Given the description of an element on the screen output the (x, y) to click on. 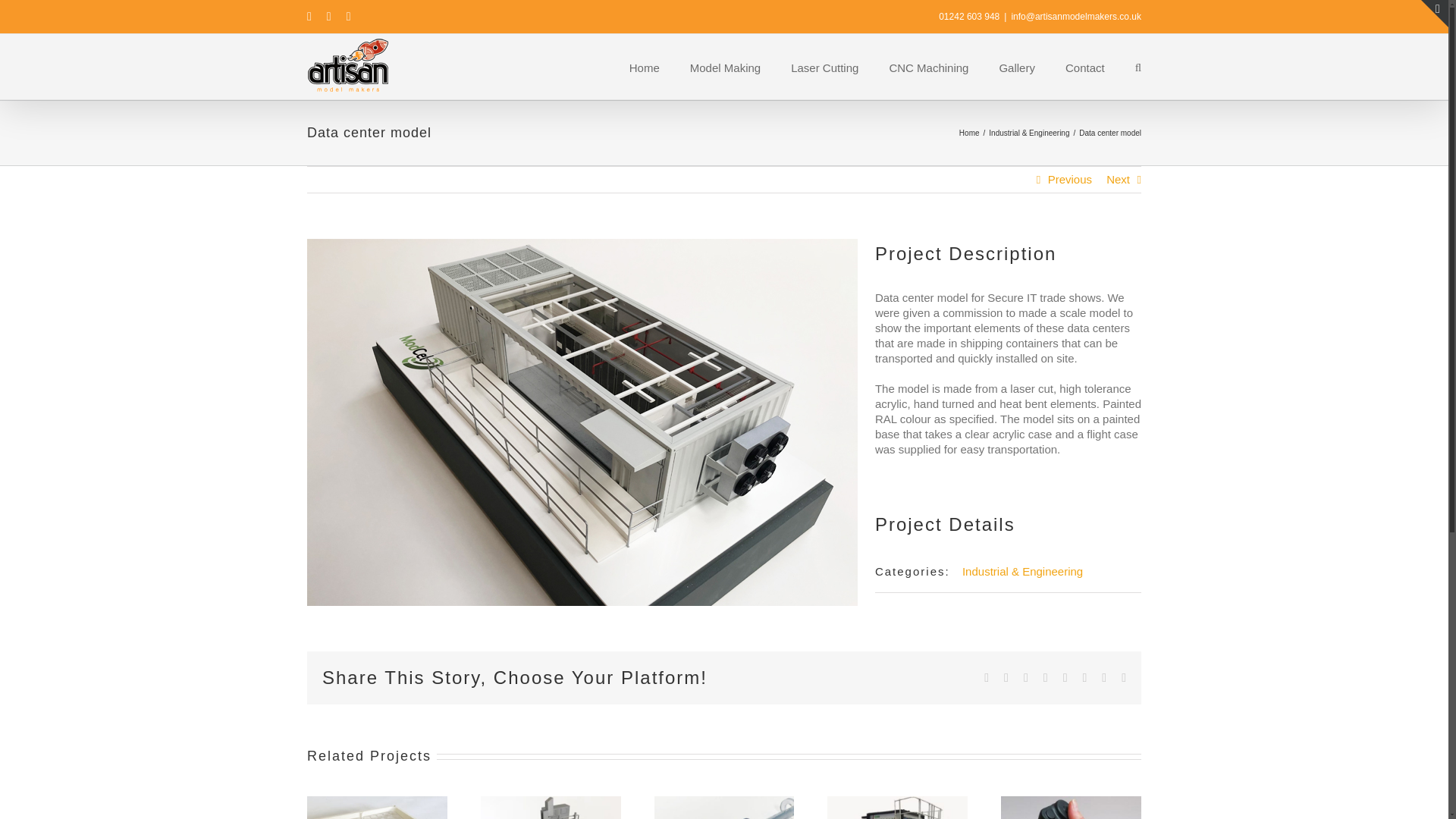
CNC Machining (928, 66)
Laser Cutting (824, 66)
Model Making (725, 66)
